Given the description of an element on the screen output the (x, y) to click on. 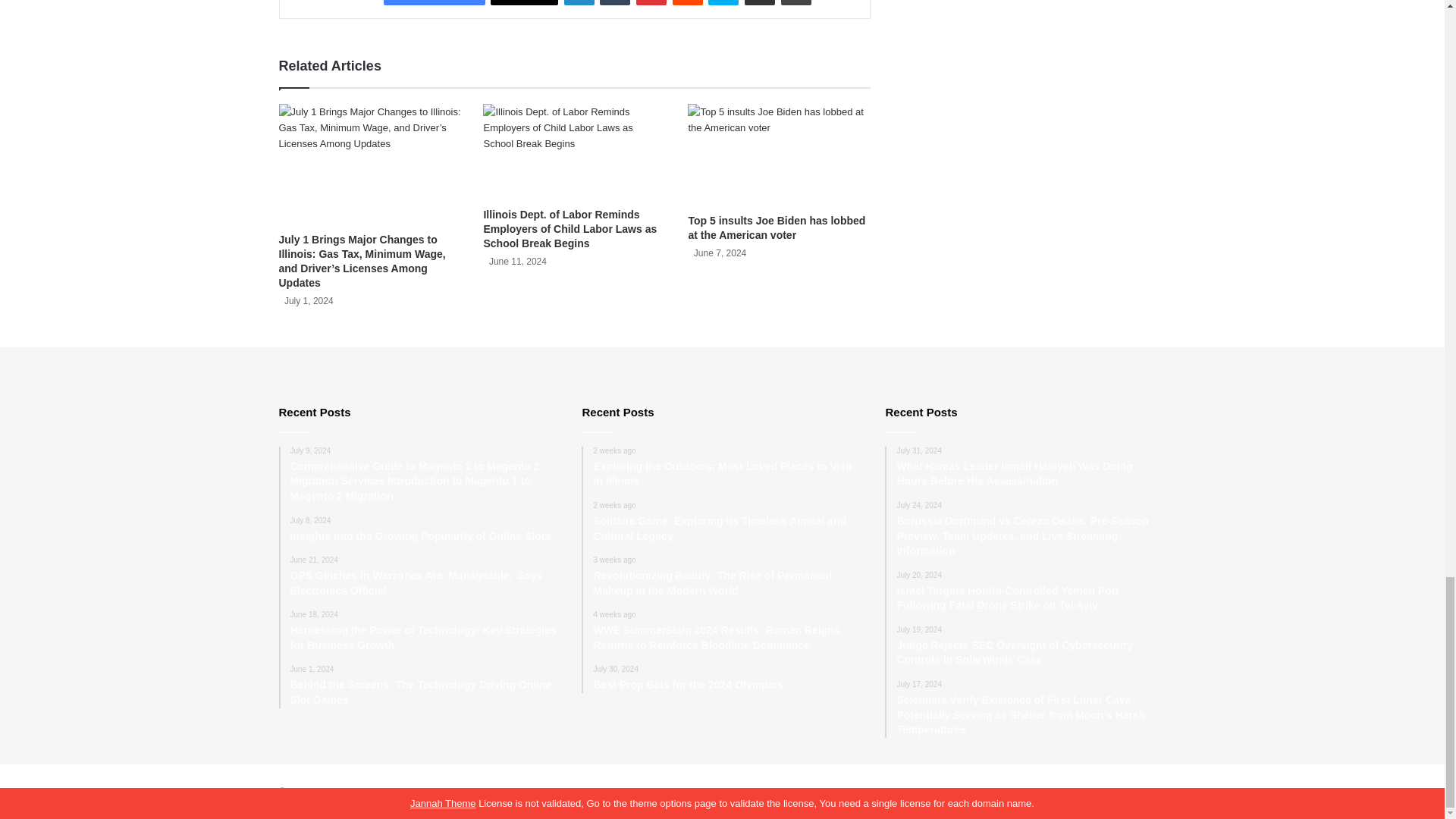
Reddit (687, 2)
Facebook (434, 2)
X (523, 2)
Pinterest (651, 2)
Tumblr (614, 2)
Reddit (687, 2)
LinkedIn (579, 2)
Tumblr (614, 2)
Facebook (434, 2)
Skype (722, 2)
